Given the description of an element on the screen output the (x, y) to click on. 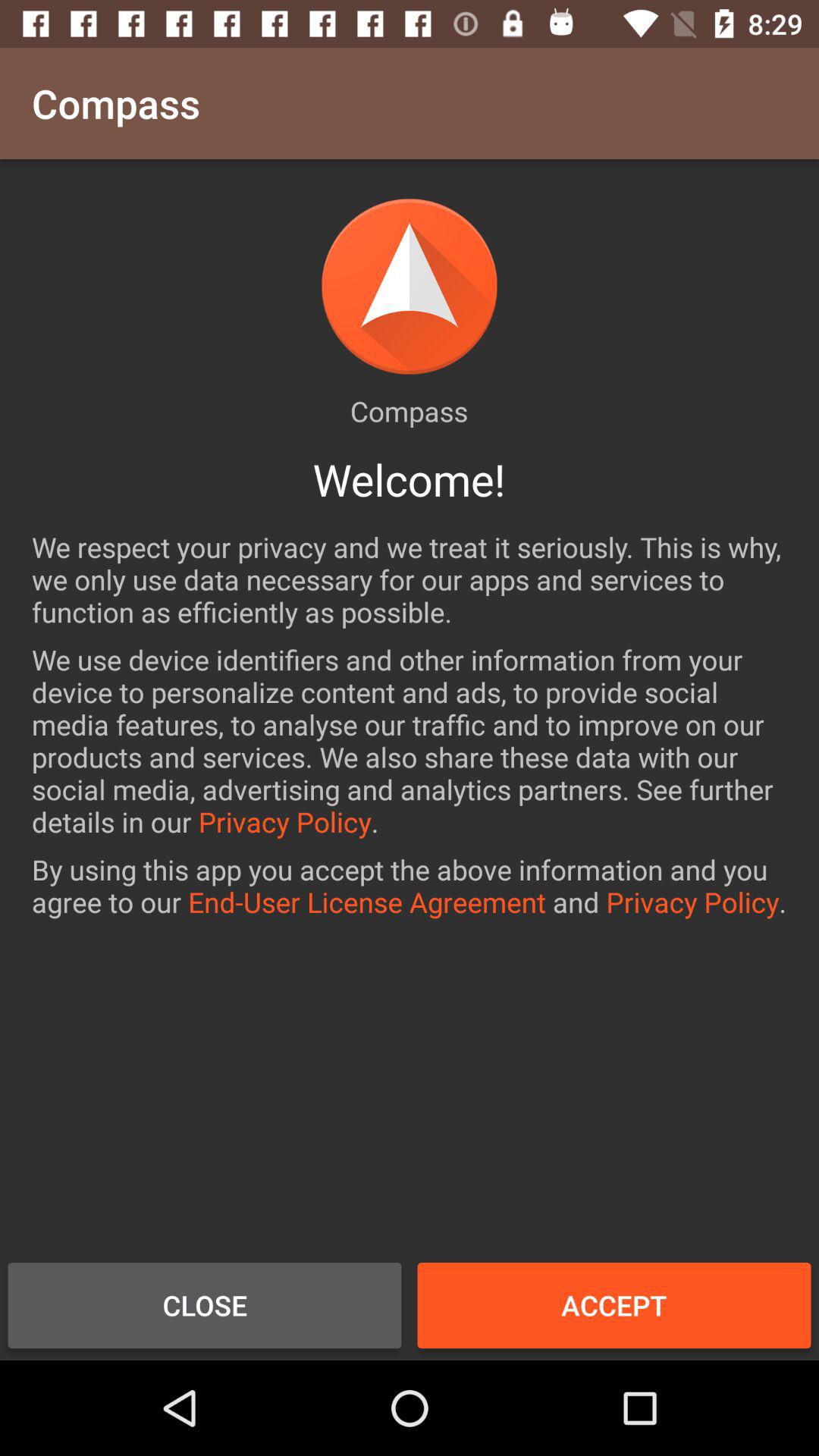
click close (204, 1305)
